Given the description of an element on the screen output the (x, y) to click on. 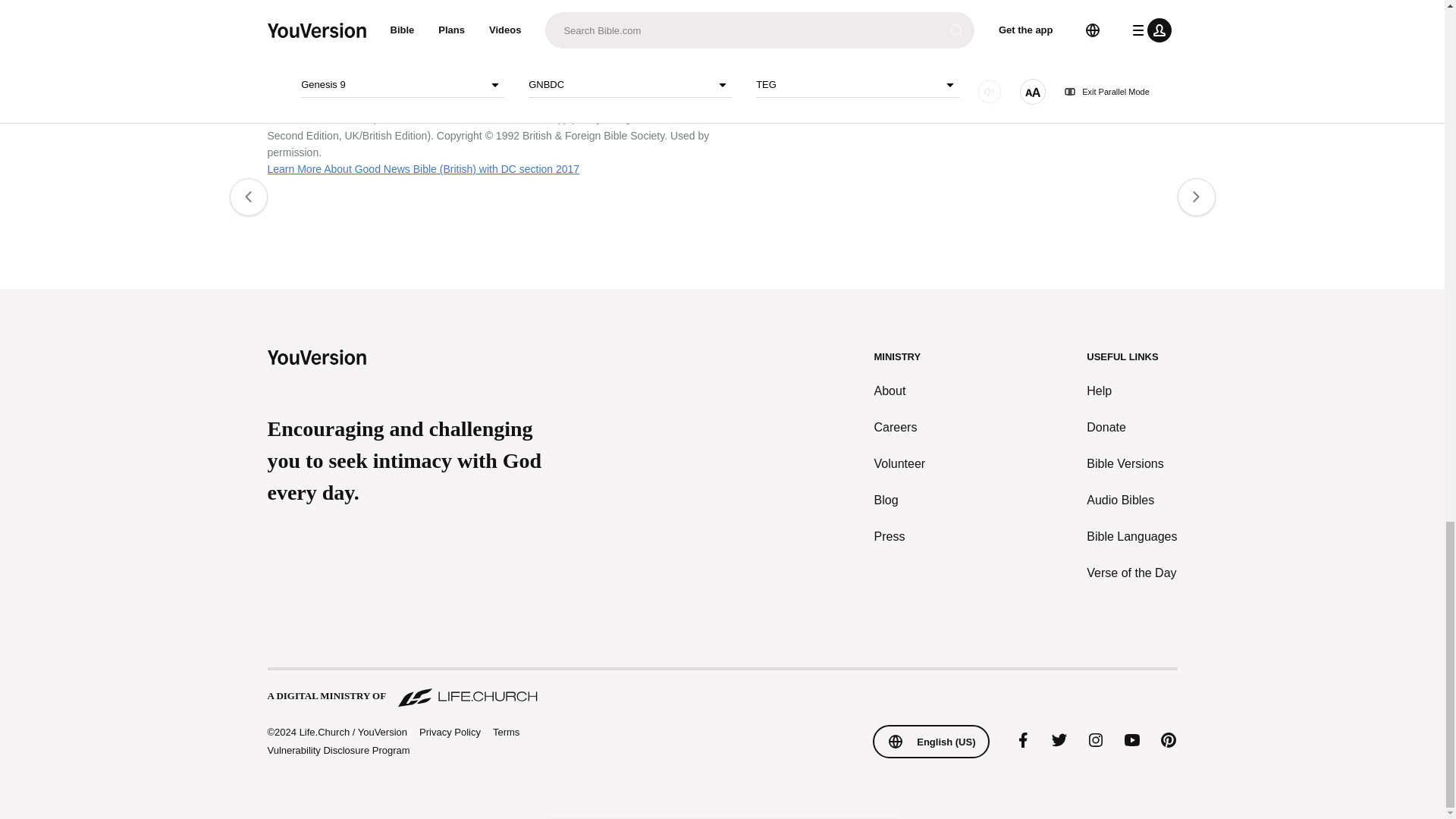
A DIGITAL MINISTRY OF (721, 688)
Vulnerability Disclosure Program (337, 749)
Terms (506, 731)
Audio Bibles (1131, 500)
Donate (1131, 427)
Careers (900, 427)
Bible Languages (1131, 536)
Help (1131, 391)
Blog (900, 500)
Privacy Policy (449, 732)
